Given the description of an element on the screen output the (x, y) to click on. 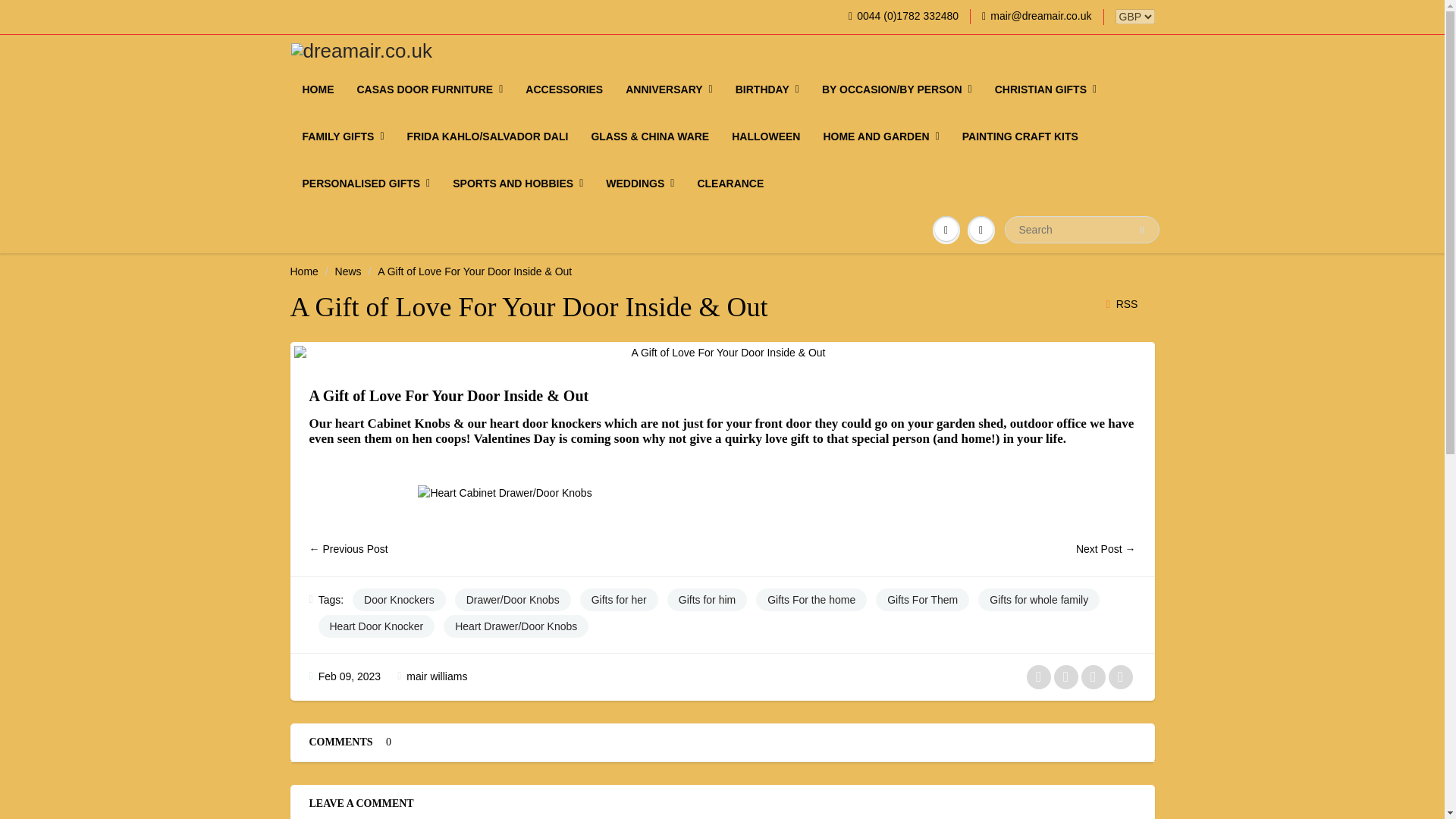
ANNIVERSARY (668, 89)
BIRTHDAY (766, 89)
ACCESSORIES (563, 89)
HOME (318, 89)
CASAS DOOR FURNITURE (430, 89)
Home (303, 271)
